Given the description of an element on the screen output the (x, y) to click on. 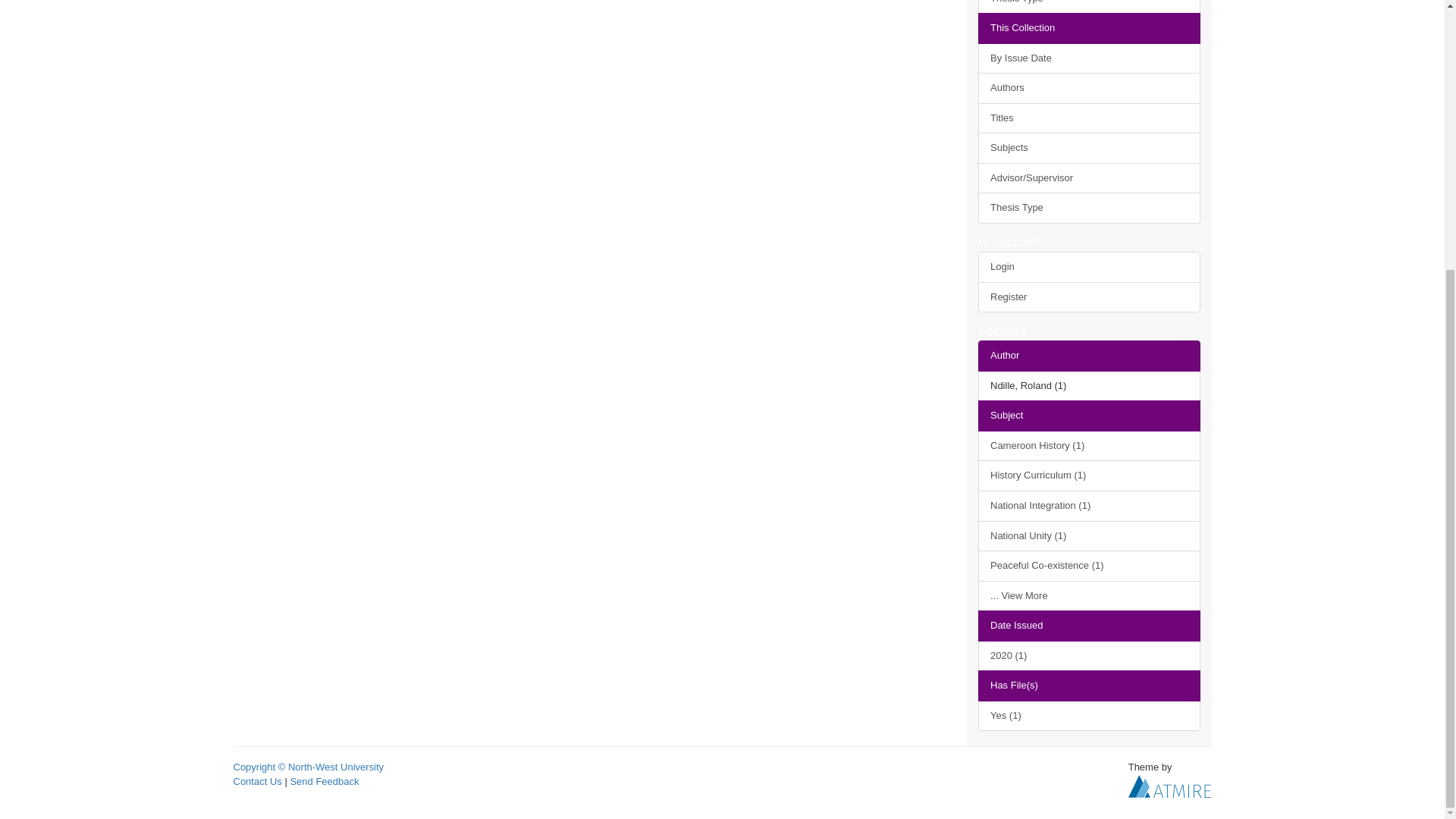
Atmire NV (1169, 785)
